Given the description of an element on the screen output the (x, y) to click on. 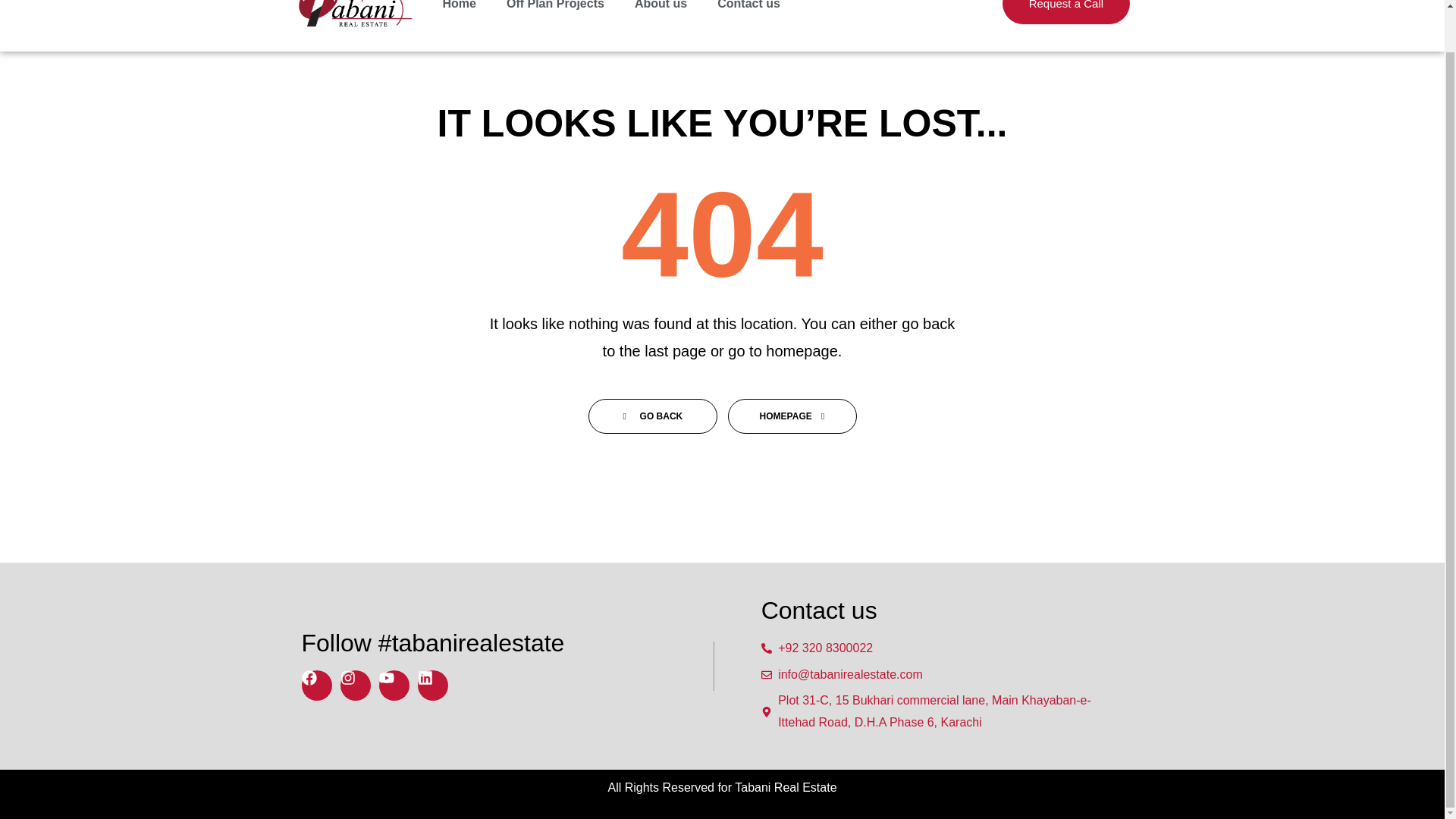
Contact us (747, 10)
HOMEPAGE (792, 416)
GO BACK (652, 416)
About us (660, 10)
Home (460, 10)
Request a Call (1066, 12)
Off Plan Projects (556, 10)
